Given the description of an element on the screen output the (x, y) to click on. 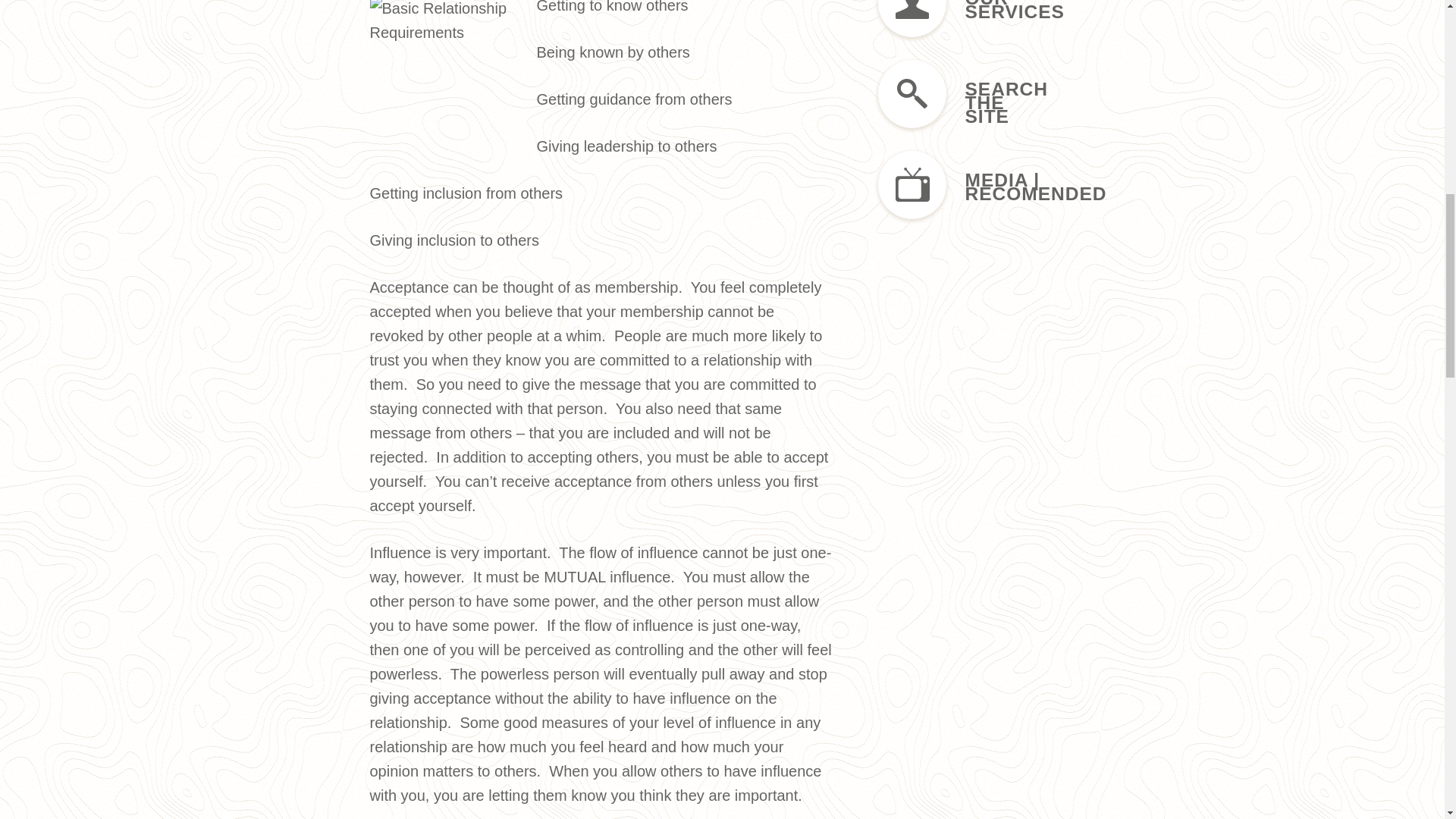
Basic Relationship Requirements (449, 74)
Recommended Videos (964, 186)
About Dr. Ward (964, 20)
